Given the description of an element on the screen output the (x, y) to click on. 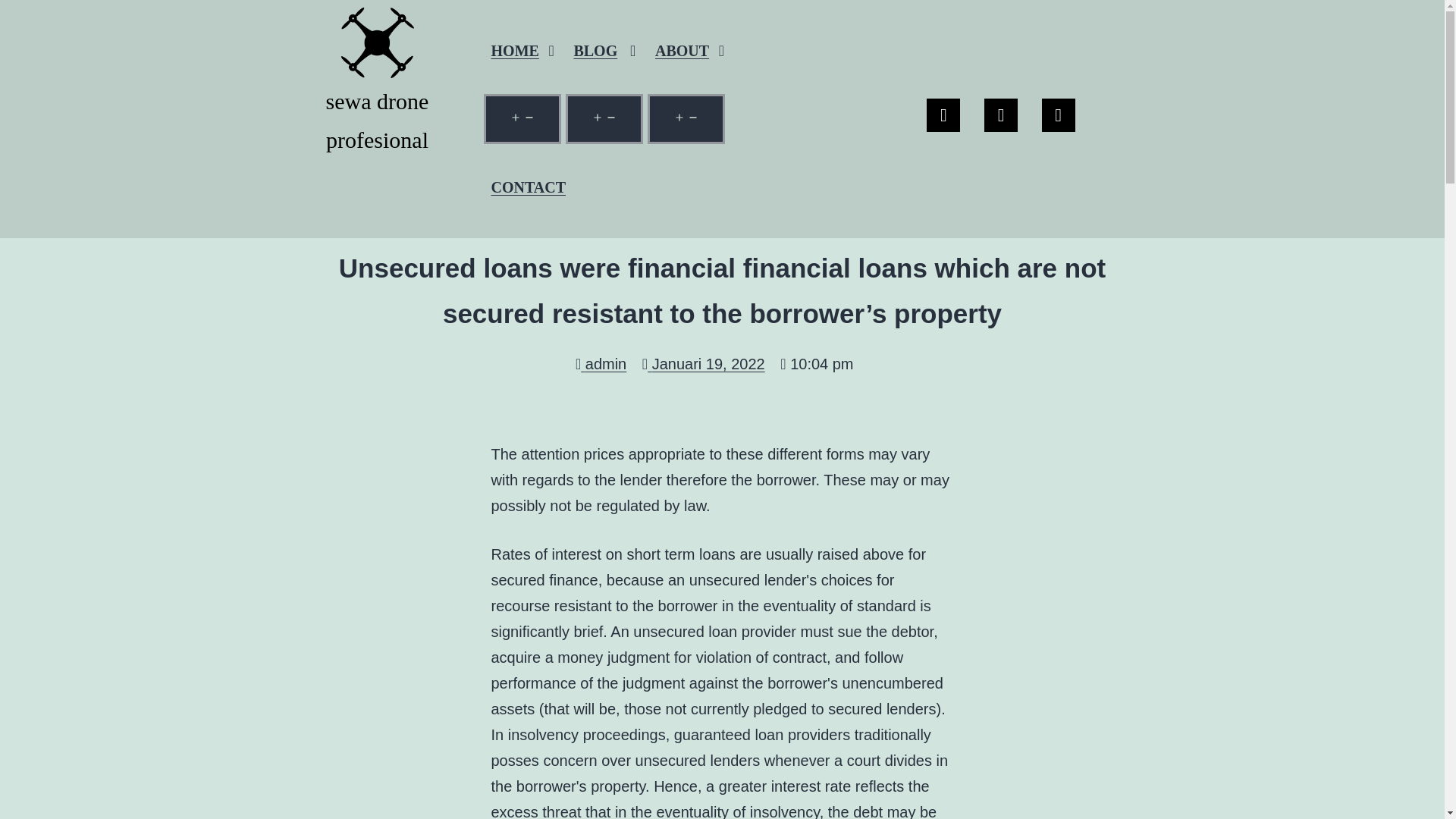
Open menu (604, 119)
10:04 pm (816, 363)
Open menu (686, 119)
admin (600, 363)
Januari 19, 2022 (703, 363)
Open menu (521, 119)
CONTACT (528, 187)
ABOUT (689, 50)
BLOG (604, 50)
HOME (522, 50)
sewa drone profesional (377, 84)
